Given the description of an element on the screen output the (x, y) to click on. 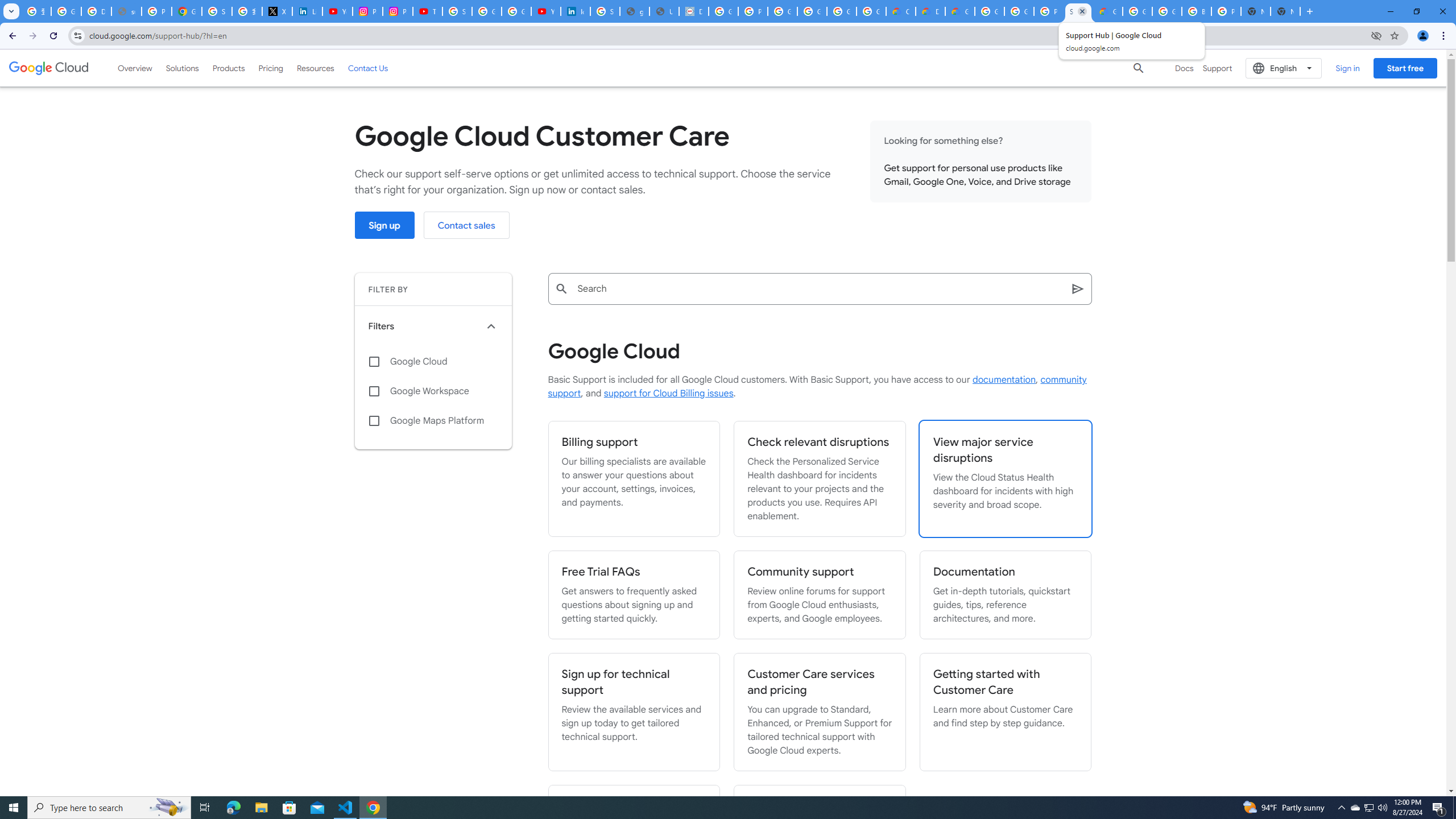
Google Workspace - Specific Terms (841, 11)
Google Cloud (48, 67)
Customer Care | Google Cloud (900, 11)
Filters keyboard_arrow_up (432, 326)
Privacy Help Center - Policies Help (156, 11)
X (277, 11)
documentation (1004, 379)
